Given the description of an element on the screen output the (x, y) to click on. 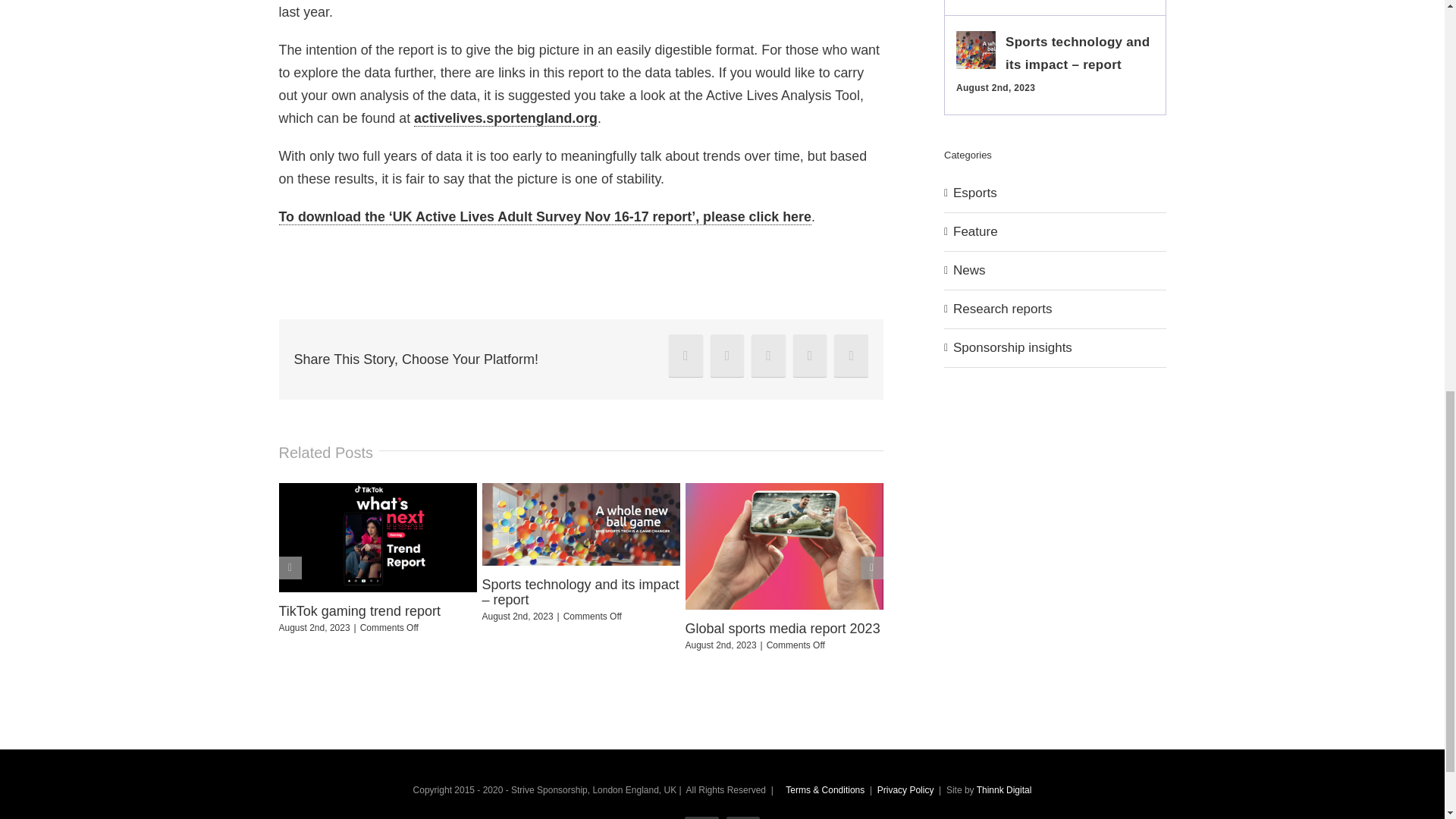
TikTok gaming trend report (360, 611)
Global sports media report 2023 (782, 628)
activelives.sportengland.org (504, 118)
